Given the description of an element on the screen output the (x, y) to click on. 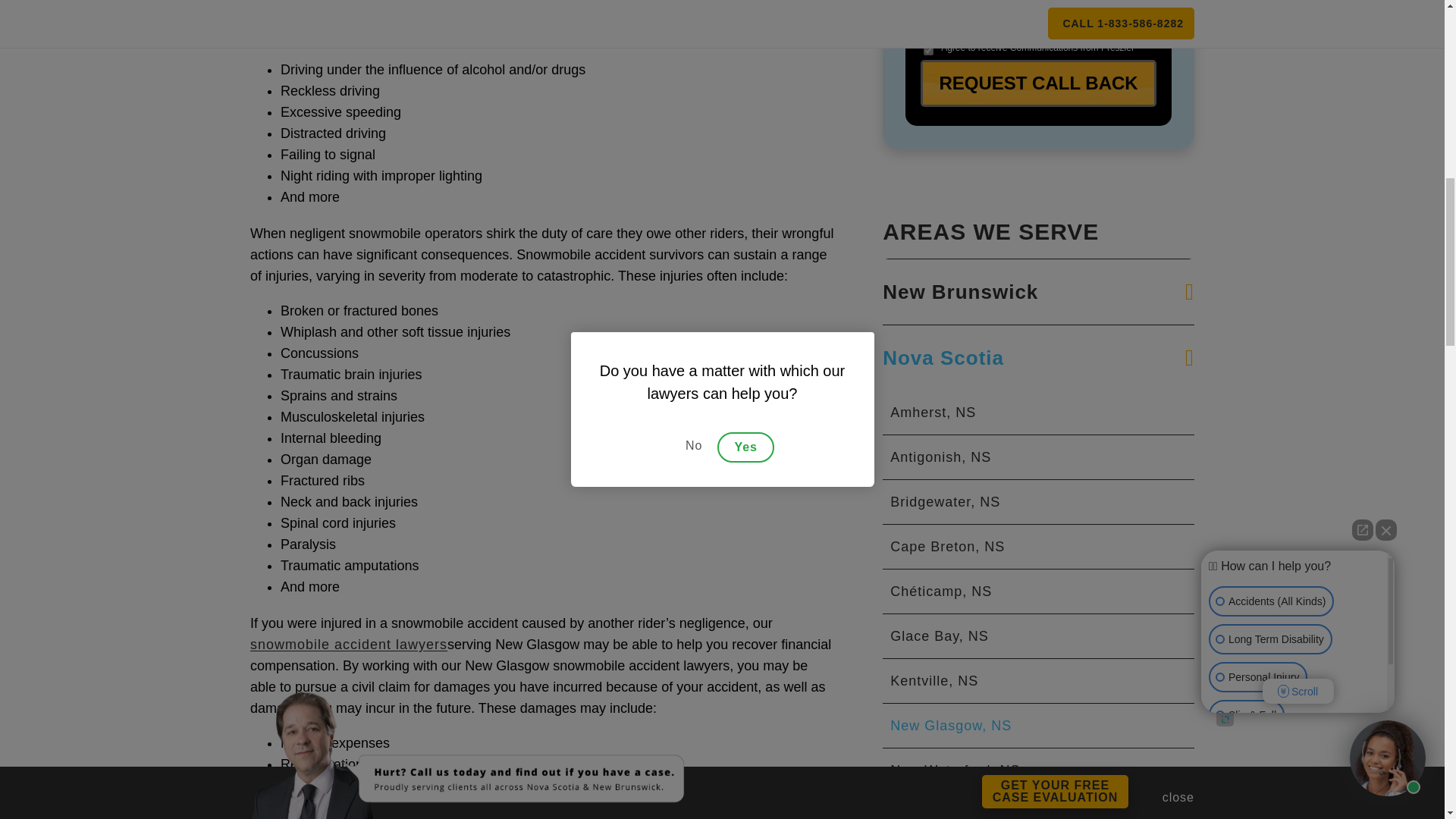
1 (928, 50)
